Given the description of an element on the screen output the (x, y) to click on. 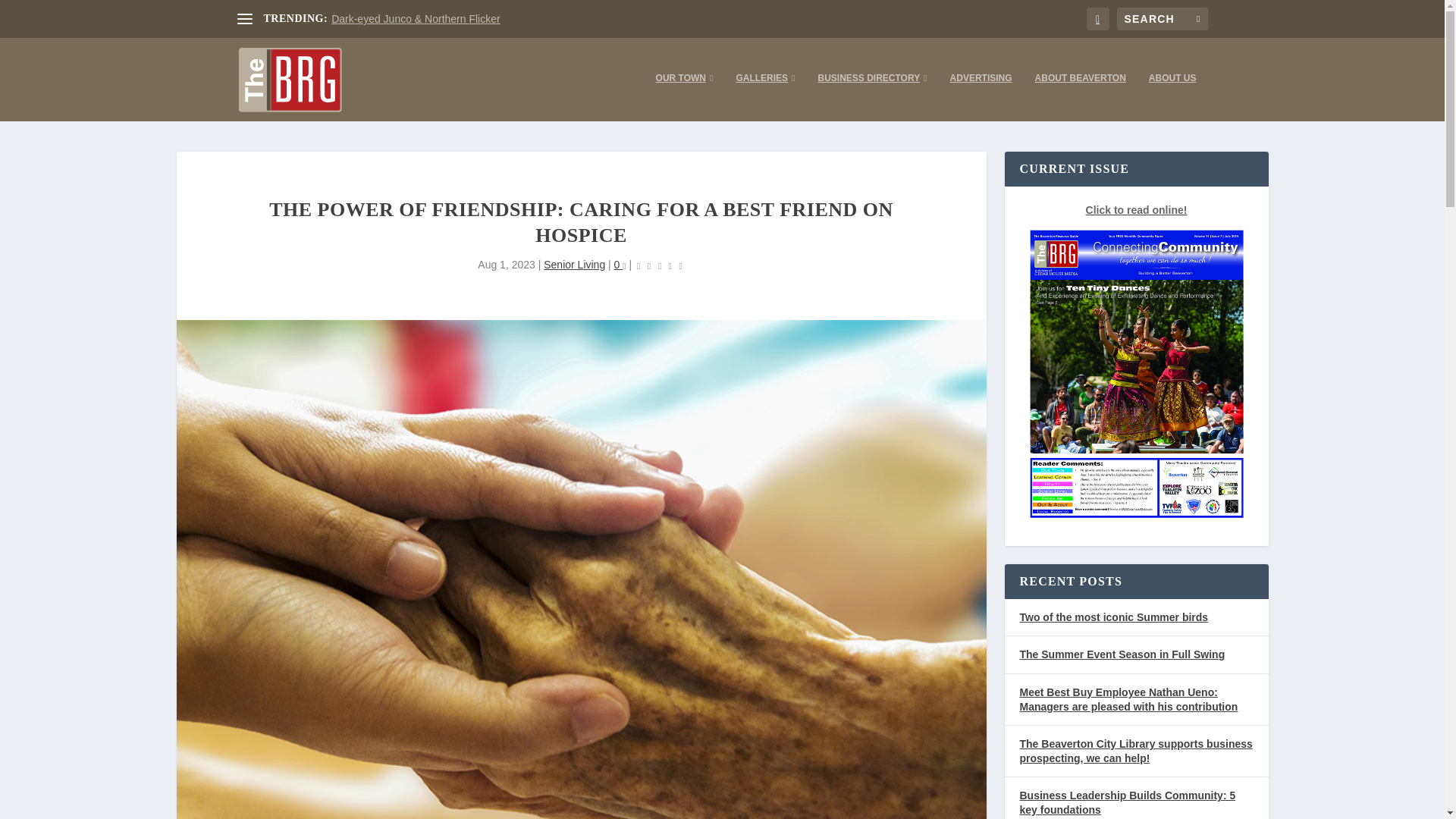
Search for: (1161, 18)
OUR TOWN (684, 96)
GALLERIES (764, 96)
